Given the description of an element on the screen output the (x, y) to click on. 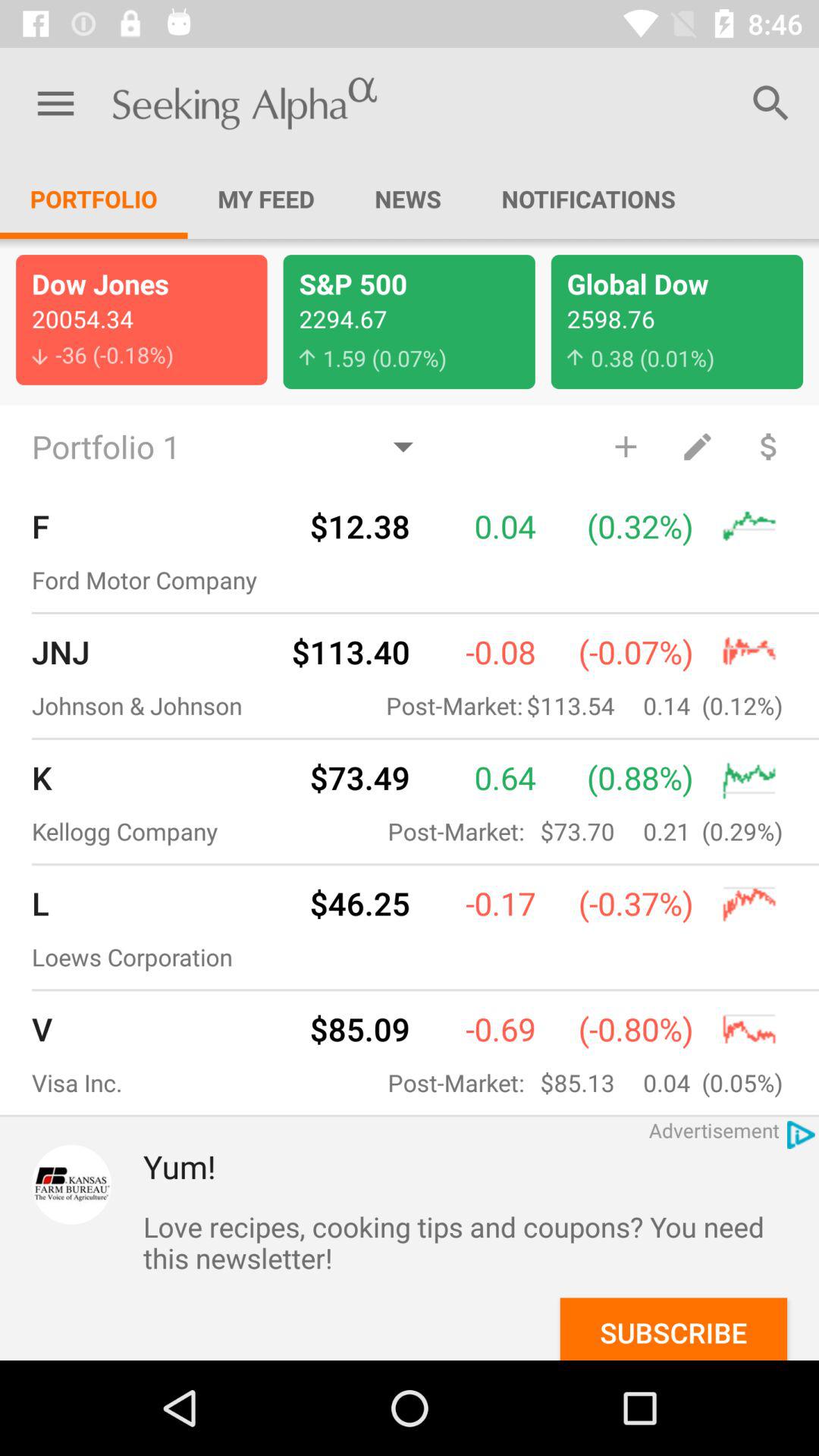
add notes (697, 446)
